Given the description of an element on the screen output the (x, y) to click on. 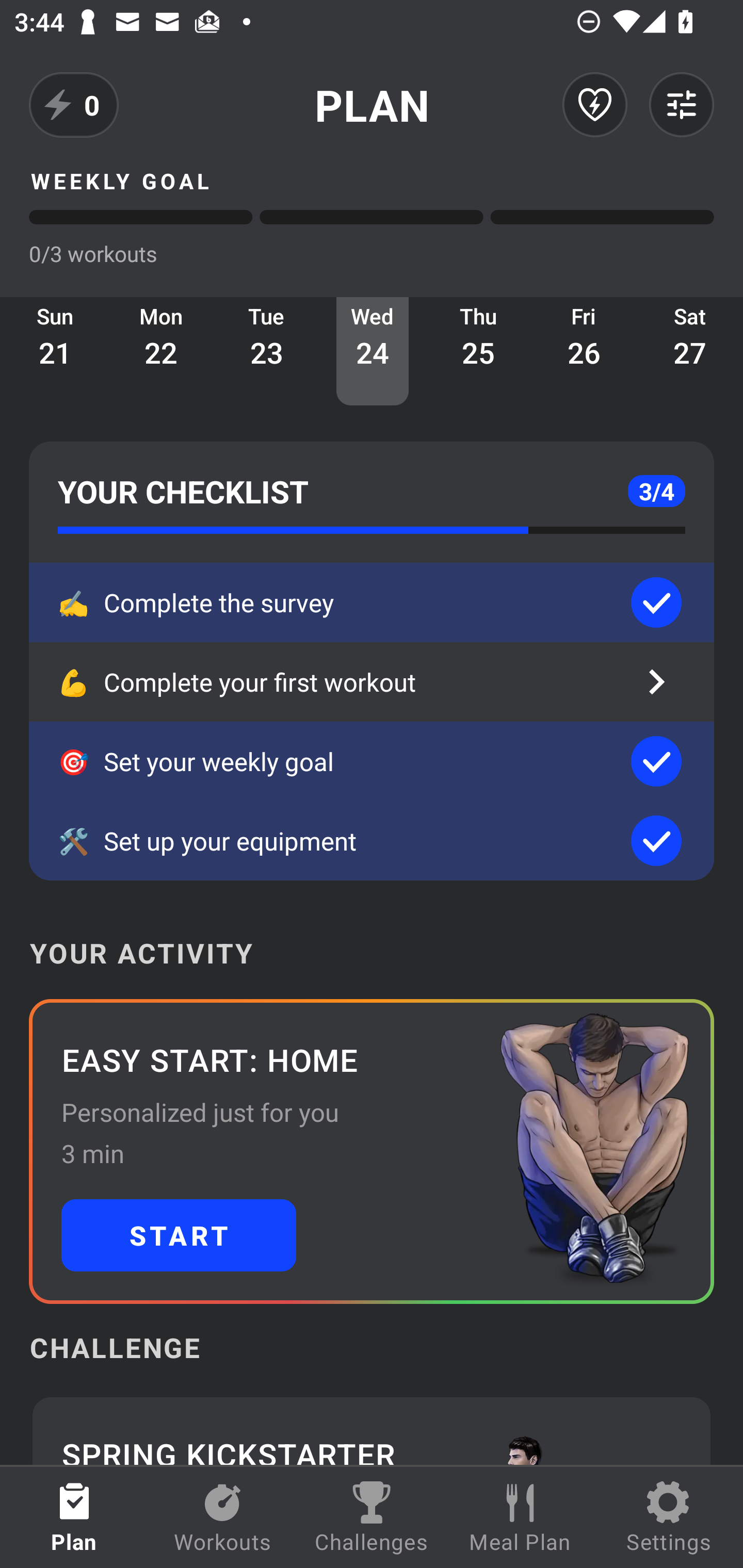
0 (73, 104)
Sun 21 (55, 351)
Mon 22 (160, 351)
Tue 23 (266, 351)
Wed 24 (372, 351)
Thu 25 (478, 351)
Fri 26 (584, 351)
Sat 27 (690, 351)
💪 Complete your first workout (371, 681)
START (178, 1235)
 Workouts  (222, 1517)
 Challenges  (371, 1517)
 Meal Plan  (519, 1517)
 Settings  (668, 1517)
